Given the description of an element on the screen output the (x, y) to click on. 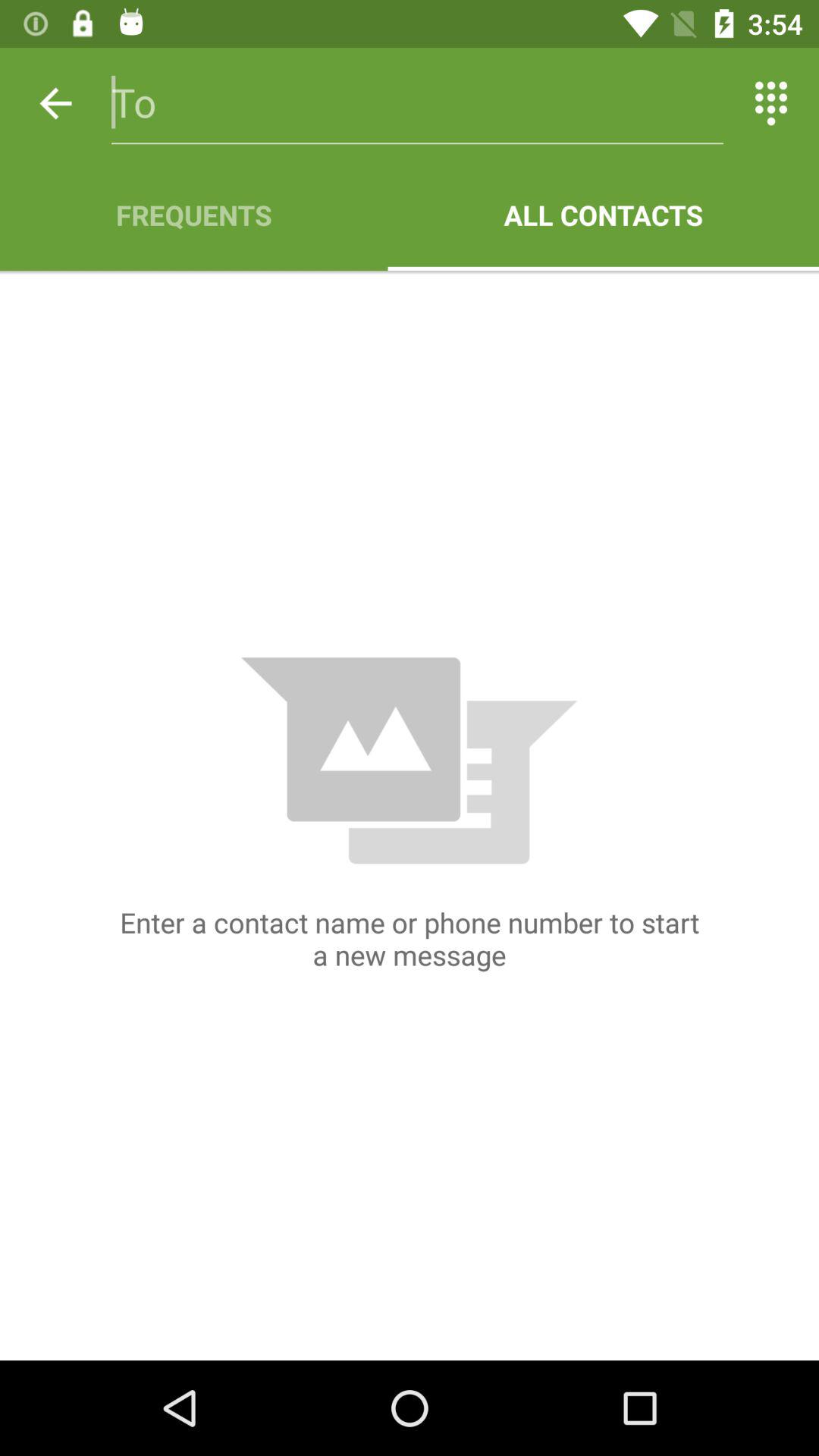
turn on icon above frequents icon (55, 103)
